Given the description of an element on the screen output the (x, y) to click on. 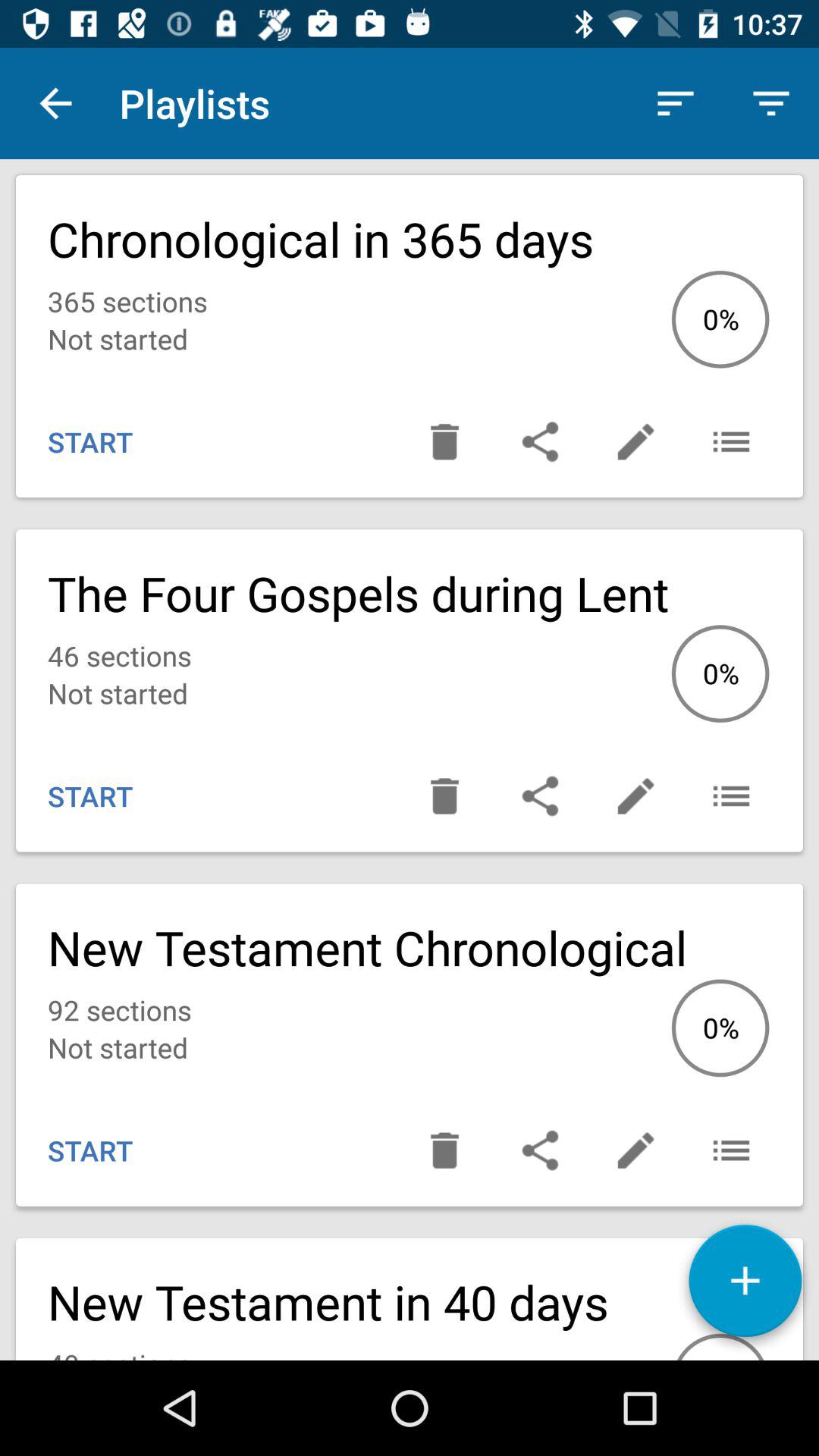
turn off the app to the right of the playlists (675, 103)
